Given the description of an element on the screen output the (x, y) to click on. 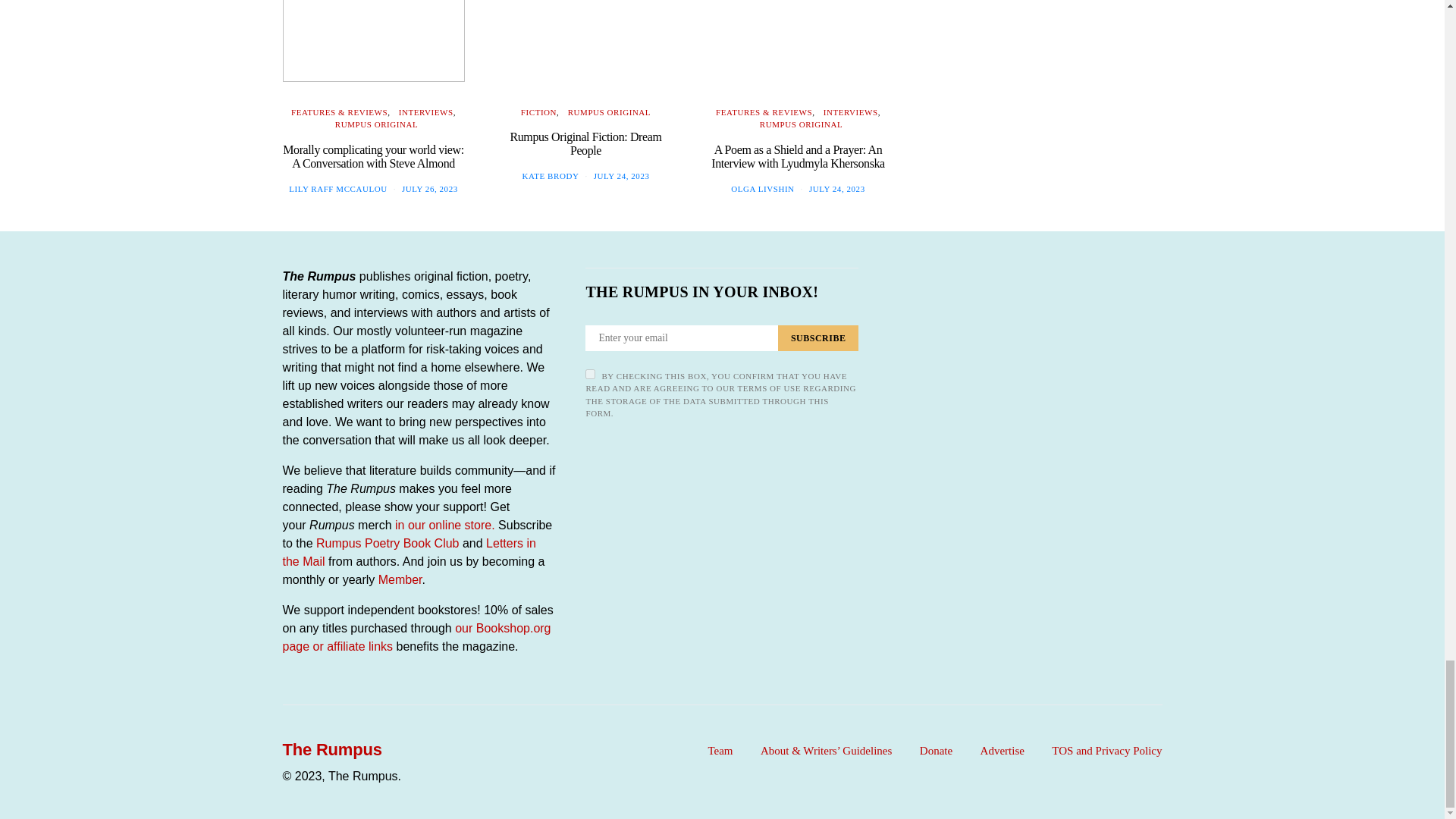
View all posts by Olga Livshin (761, 188)
View all posts by Kate Brody (550, 175)
View all posts by Lily Raff McCaulou (337, 188)
on (590, 374)
